Given the description of an element on the screen output the (x, y) to click on. 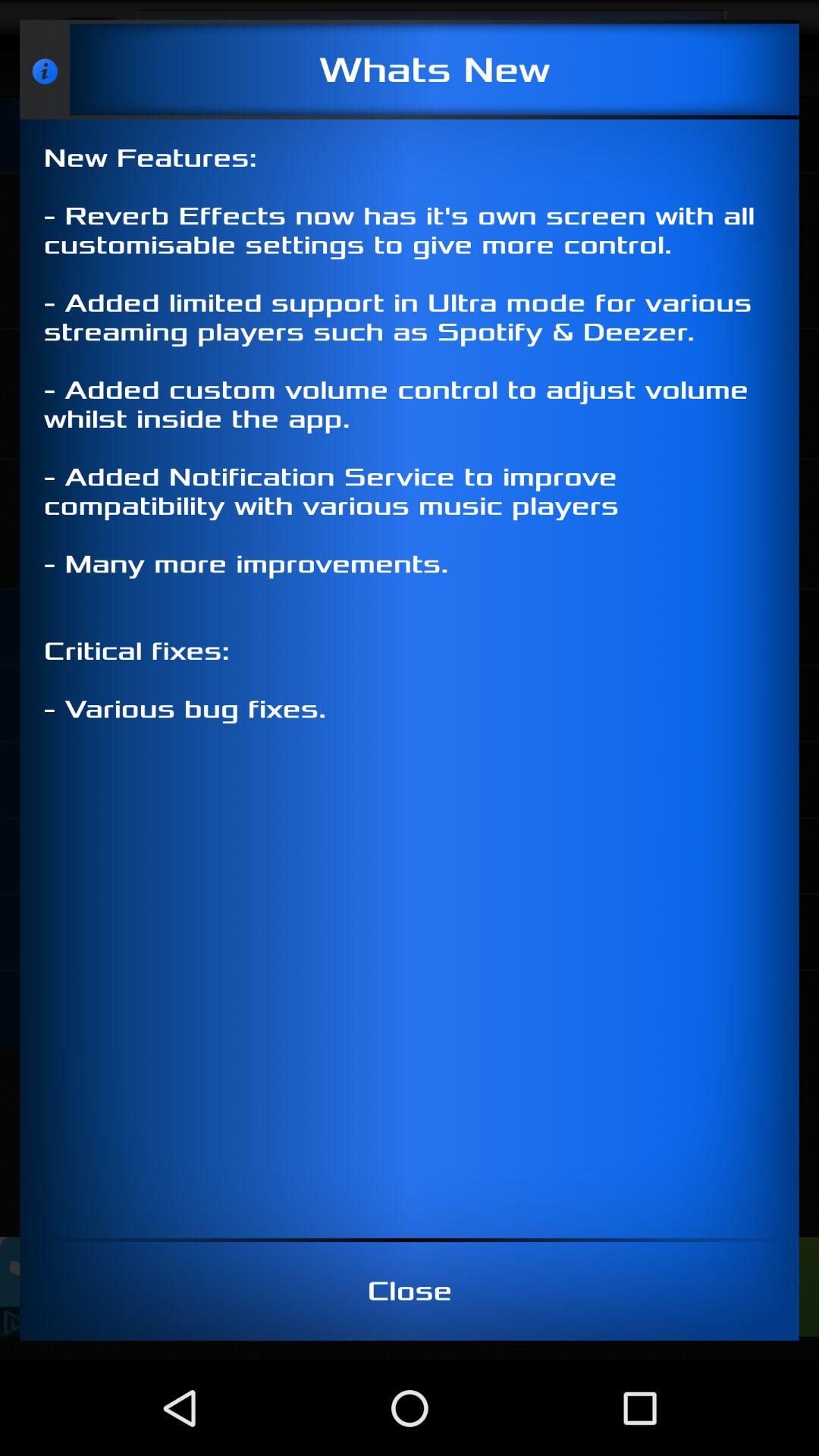
choose close (409, 1291)
